Given the description of an element on the screen output the (x, y) to click on. 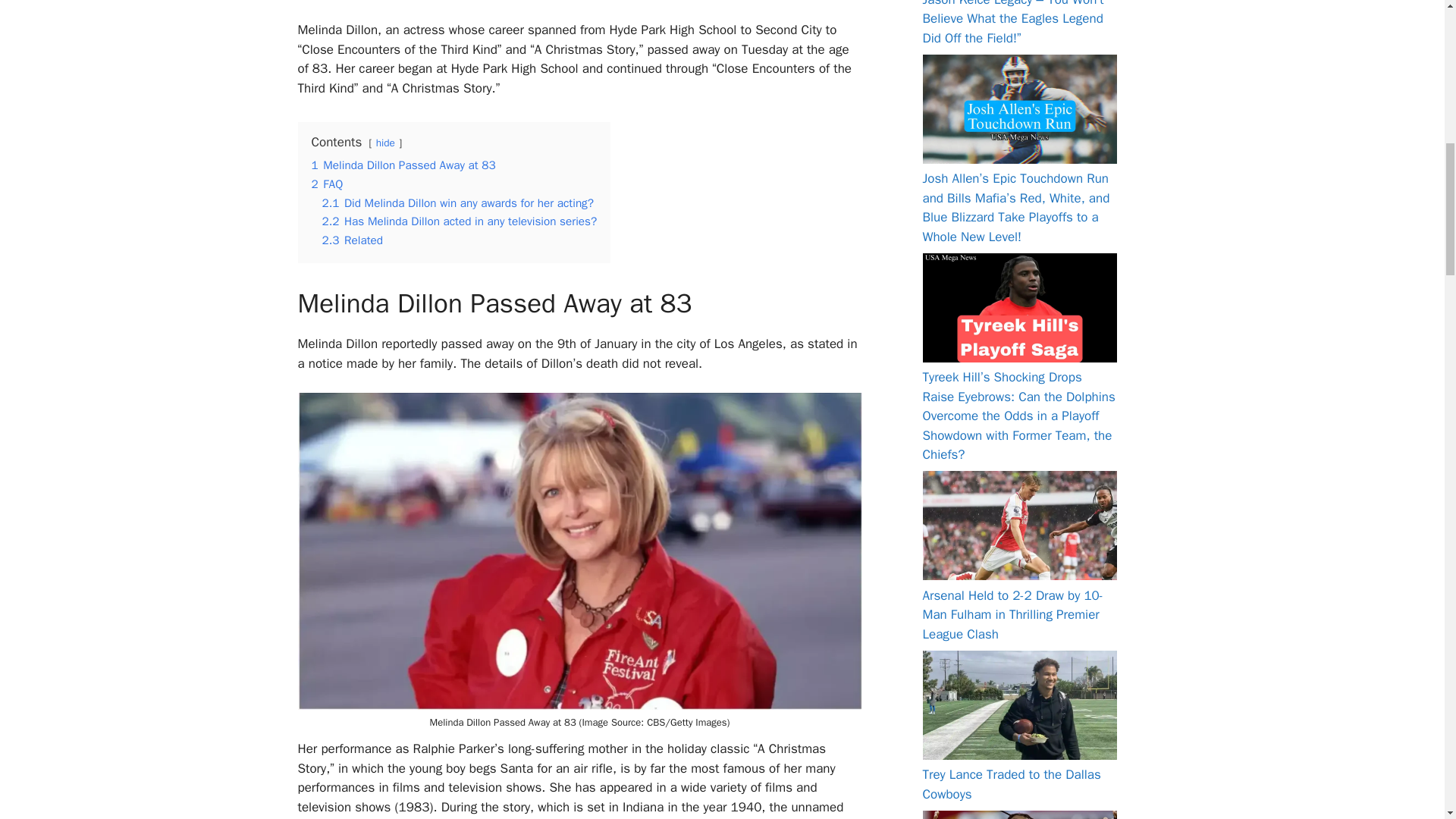
1 Melinda Dillon Passed Away at 83 (403, 165)
2.3 Related (351, 240)
2.1 Did Melinda Dillon win any awards for her acting? (457, 202)
hide (384, 142)
2 FAQ (326, 183)
2.2 Has Melinda Dillon acted in any television series? (458, 221)
